Given the description of an element on the screen output the (x, y) to click on. 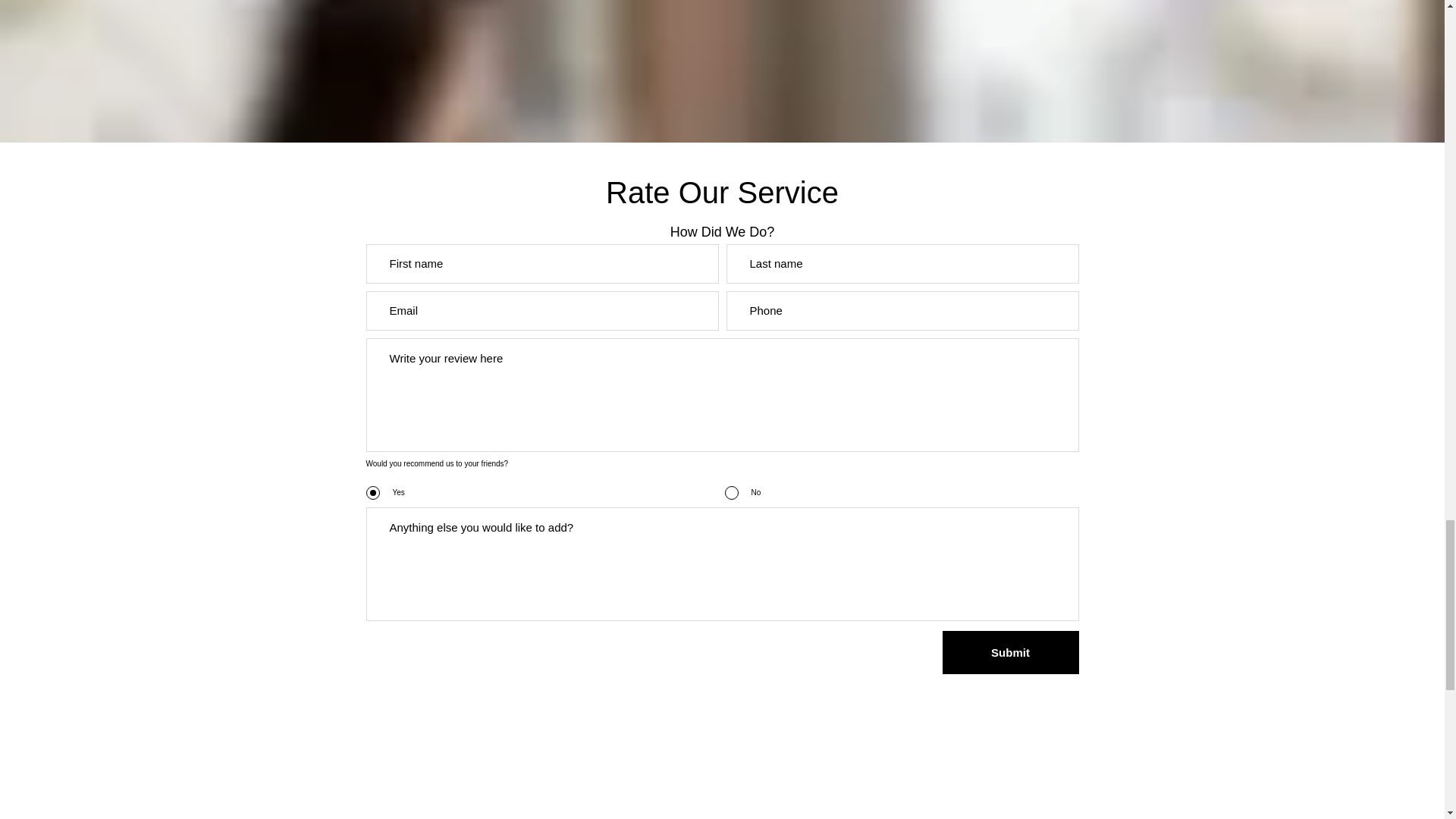
Submit (1010, 652)
